Given the description of an element on the screen output the (x, y) to click on. 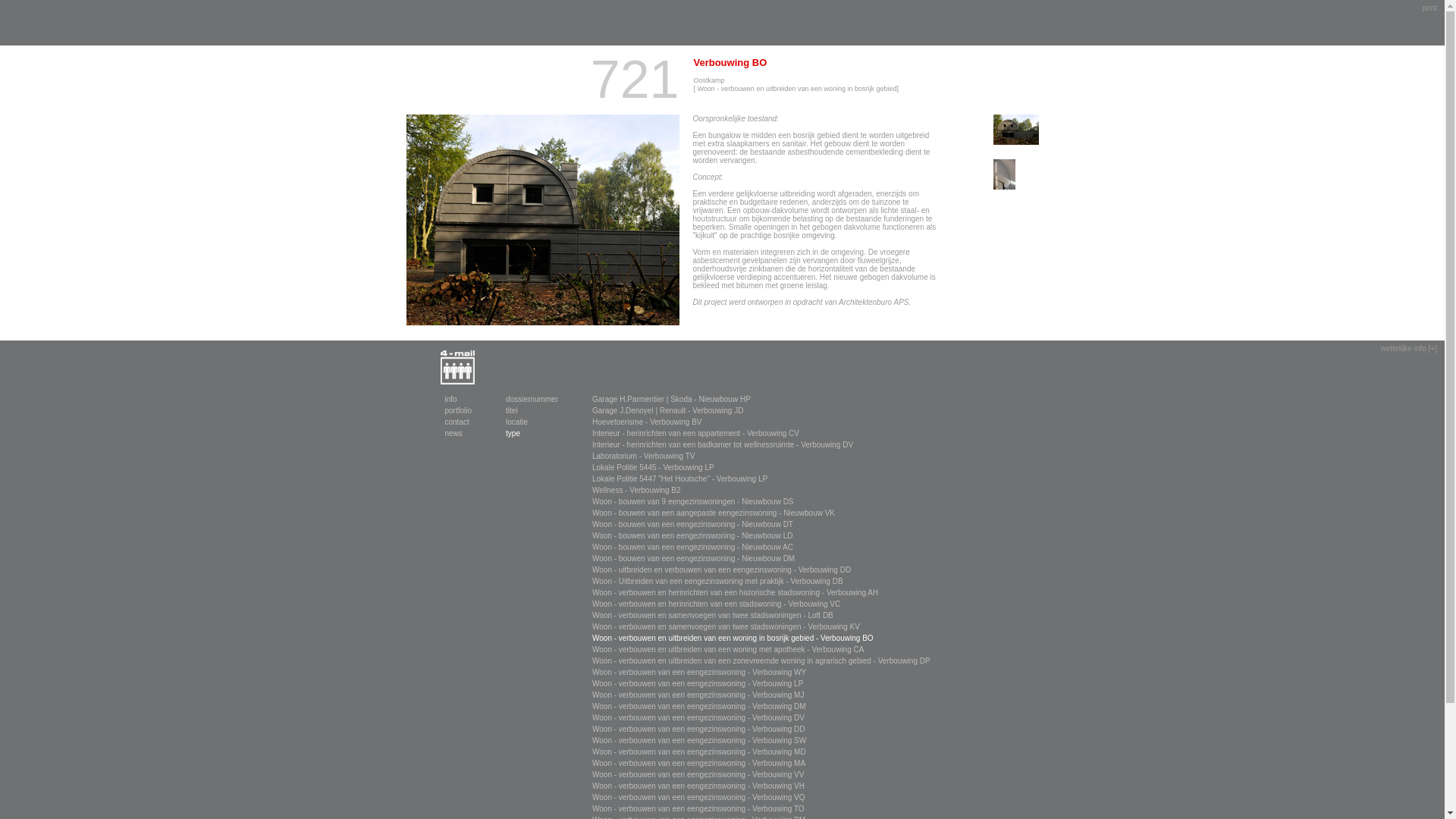
Wellness - Verbouwing B2 Element type: text (636, 490)
locatie Element type: text (516, 421)
Woon - bouwen van een eengezinswoning - Nieuwbouw DM Element type: text (693, 558)
Woon - bouwen van een eengezinswoning - Nieuwbouw DT Element type: text (692, 524)
portfolio Element type: text (457, 410)
Woon - bouwen van 9 eengezinswoningen - Nieuwbouw DS Element type: text (692, 501)
Woon - verbouwen van een eengezinswoning - Verbouwing VQ Element type: text (698, 797)
Interieur - herinrichten van een appartement - Verbouwing CV Element type: text (695, 433)
Garage J.Denoyel | Renault - Verbouwing JD Element type: text (667, 410)
Woon - verbouwen van een eengezinswoning - Verbouwing VH Element type: text (698, 785)
wettelijke info [+] Element type: text (1408, 348)
print Element type: text (1429, 7)
Woon - verbouwen van een eengezinswoning - Verbouwing LP Element type: text (697, 683)
Woon - verbouwen van een eengezinswoning - Verbouwing TO Element type: text (698, 808)
Woon - verbouwen van een eengezinswoning - Verbouwing VV Element type: text (697, 774)
Woon - verbouwen van een eengezinswoning - Verbouwing SW Element type: text (699, 740)
contact Element type: text (456, 421)
dossiernummer Element type: text (531, 399)
Lokale Politie 5447 "Het Houtsche" - Verbouwing LP Element type: text (679, 478)
Woon - verbouwen van een eengezinswoning - Verbouwing MA Element type: text (698, 763)
Woon - verbouwen van een eengezinswoning - Verbouwing WY Element type: text (699, 672)
Hoevetoerisme - Verbouwing BV Element type: text (647, 421)
titel Element type: text (511, 410)
Woon - verbouwen van een eengezinswoning - Verbouwing MD Element type: text (699, 751)
Woon - verbouwen van een eengezinswoning - Verbouwing DM Element type: text (699, 706)
Woon - bouwen van een eengezinswoning - Nieuwbouw AC Element type: text (692, 546)
Laboratorium - Verbouwing TV Element type: text (643, 455)
Woon - bouwen van een eengezinswoning - Nieuwbouw LD Element type: text (692, 535)
news Element type: text (452, 433)
Lokale Politie 5445 - Verbouwing LP Element type: text (653, 467)
Woon - verbouwen van een eengezinswoning - Verbouwing DV Element type: text (698, 717)
info Element type: text (450, 399)
Woon - verbouwen van een eengezinswoning - Verbouwing MJ Element type: text (697, 694)
Garage H.Parmentier | Skoda - Nieuwbouw HP Element type: text (671, 399)
Woon - verbouwen van een eengezinswoning - Verbouwing DD Element type: text (698, 728)
